Given the description of an element on the screen output the (x, y) to click on. 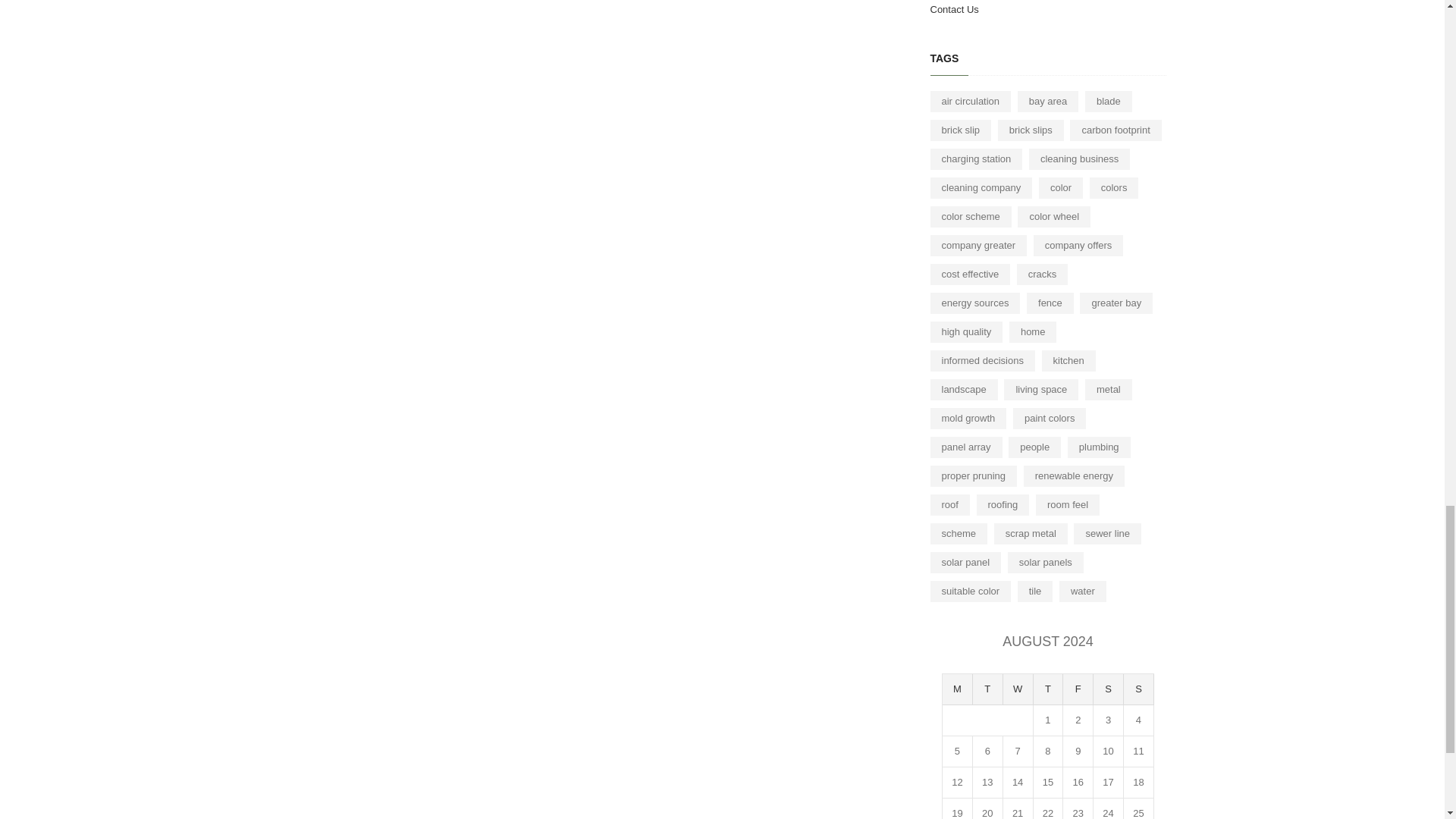
Wednesday (1018, 689)
Thursday (1048, 689)
Friday (1077, 689)
Tuesday (987, 689)
Sunday (1139, 689)
Saturday (1108, 689)
Monday (957, 689)
